Given the description of an element on the screen output the (x, y) to click on. 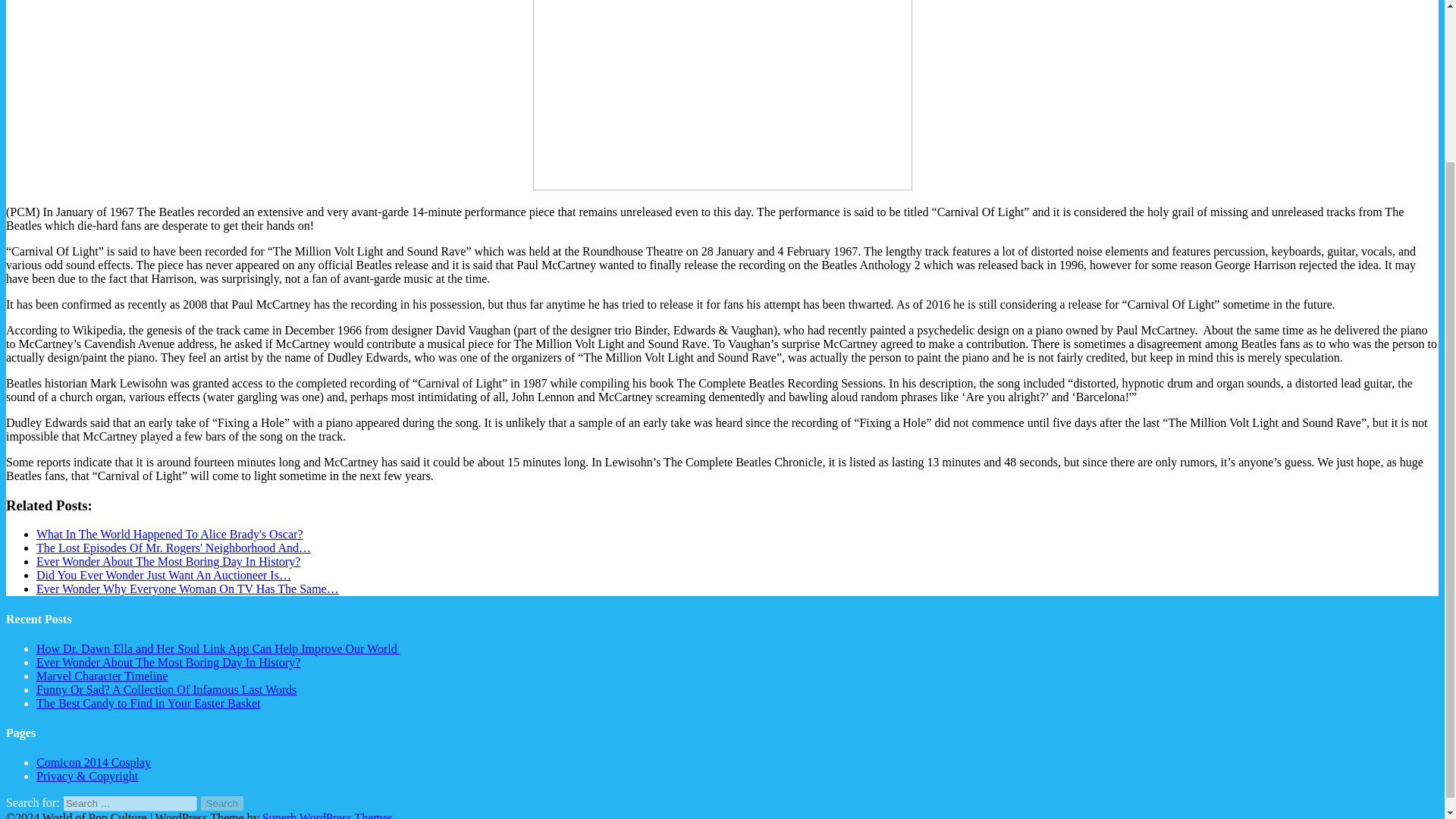
Ever Wonder About The Most Boring Day In History? (167, 662)
Marvel Character Timeline (101, 675)
Funny Or Sad? A Collection Of Infamous Last Words (166, 689)
Comicon 2014 Cosplay (93, 762)
What In The World Happened To Alice Brady's Oscar? (169, 533)
The Best Candy to Find in Your Easter Basket (148, 703)
Ever Wonder About The Most Boring Day In History? (167, 561)
Search (222, 803)
Search (222, 803)
Search (222, 803)
